Given the description of an element on the screen output the (x, y) to click on. 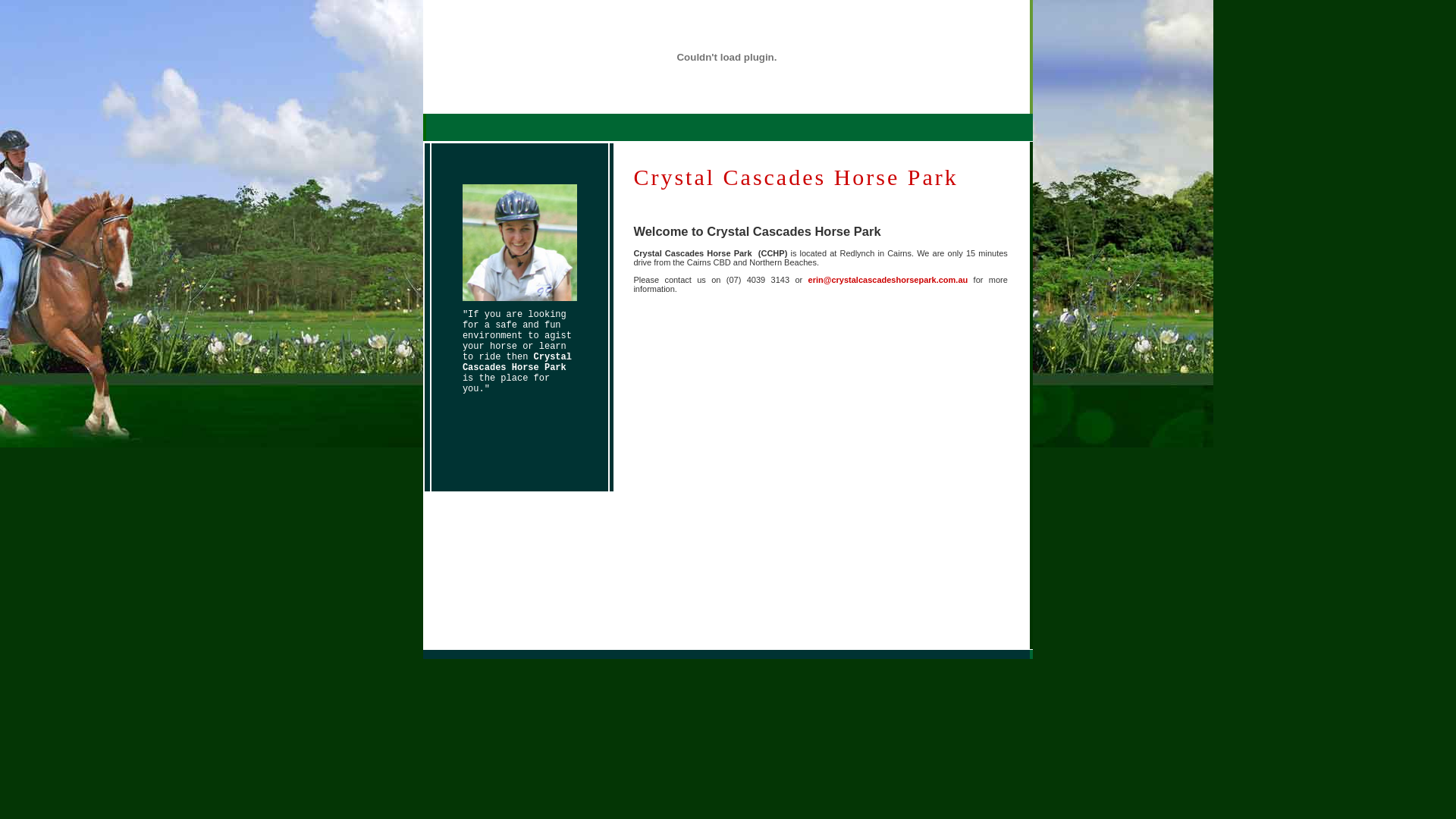
banner Element type: hover (726, 56)
erin@crystalcascadeshorsepark.com.au Element type: text (888, 279)
